Given the description of an element on the screen output the (x, y) to click on. 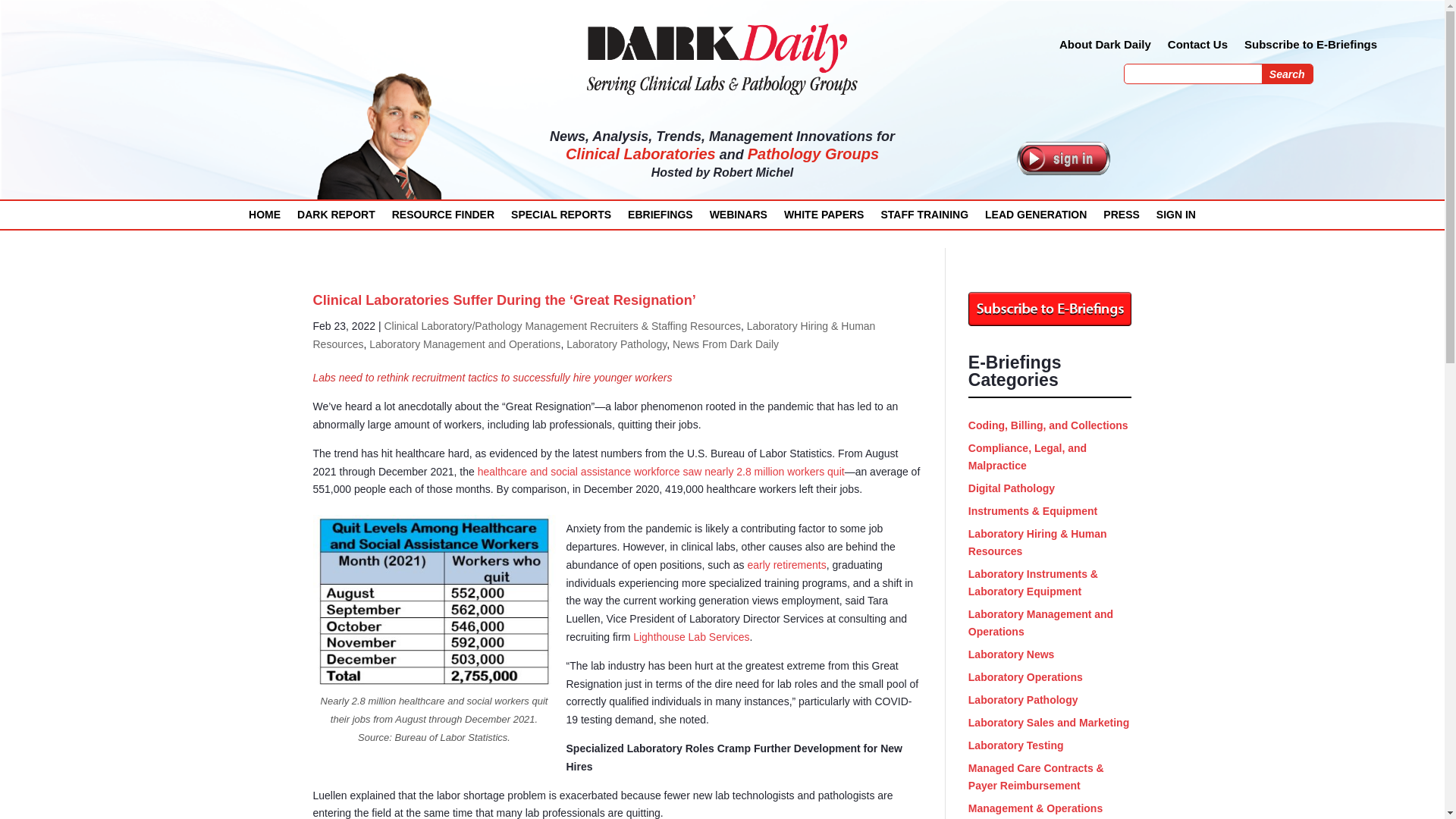
LEAD GENERATION (1035, 217)
SIGN IN (1175, 217)
dark-daily-serving-clinical-labs (722, 58)
WHITE PAPERS (824, 217)
DARK REPORT (336, 217)
Contact Us (1197, 47)
Laboratory Management and Operations (464, 344)
About Dark Daily (1105, 47)
Laboratory Pathology (616, 344)
SPECIAL REPORTS (561, 217)
STAFF TRAINING (924, 217)
Subscribe to E-Briefings (1310, 47)
EBRIEFINGS (660, 217)
Lighthouse Lab Services (691, 636)
RESOURCE FINDER (443, 217)
